Given the description of an element on the screen output the (x, y) to click on. 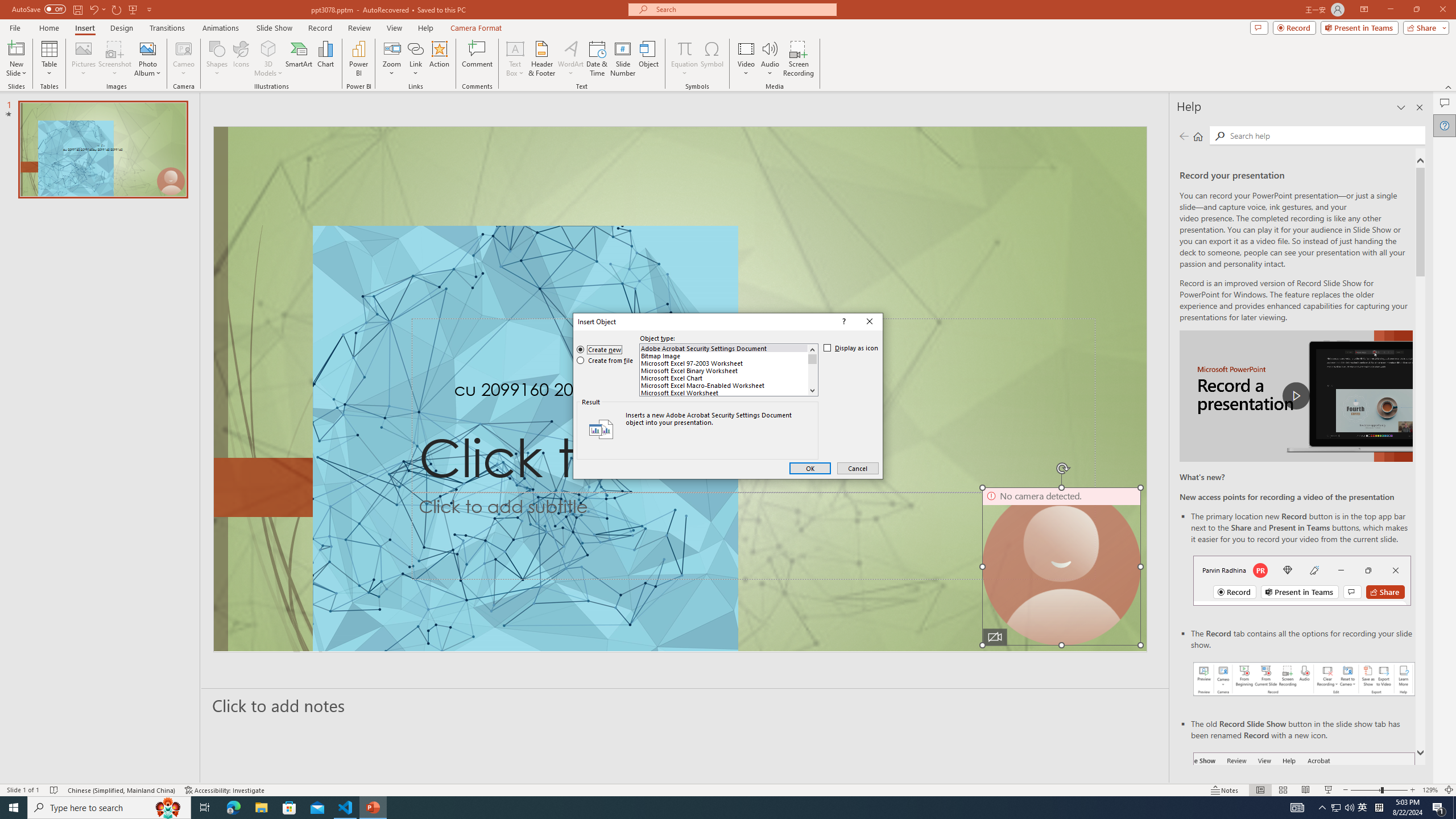
Link (415, 58)
Pictures (83, 58)
Comment (476, 58)
